Given the description of an element on the screen output the (x, y) to click on. 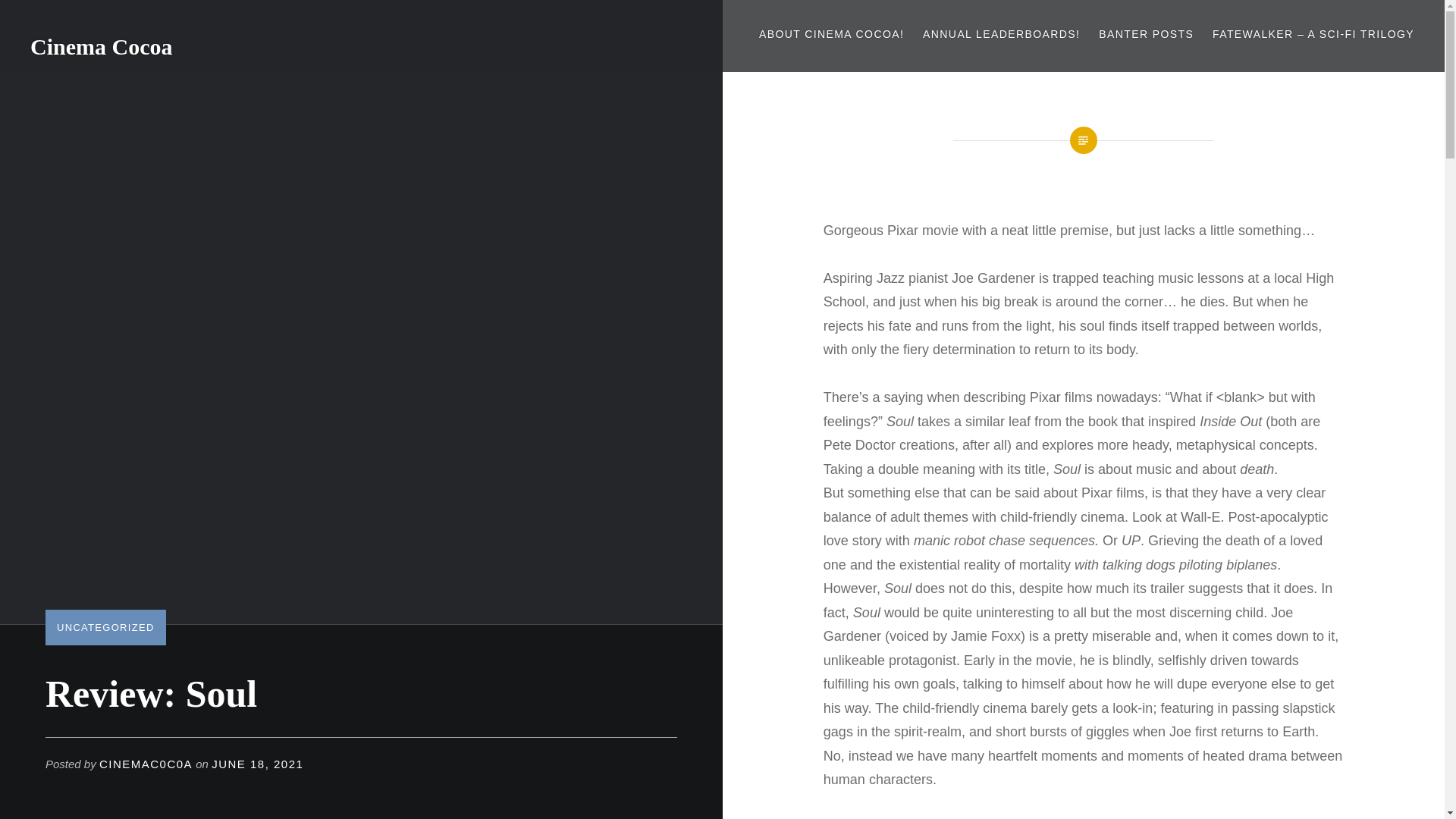
Cinema Cocoa (100, 46)
ANNUAL LEADERBOARDS! (1001, 34)
CINEMAC0C0A (145, 763)
UNCATEGORIZED (105, 627)
JUNE 18, 2021 (256, 763)
BANTER POSTS (1146, 34)
ABOUT CINEMA COCOA! (831, 34)
